Given the description of an element on the screen output the (x, y) to click on. 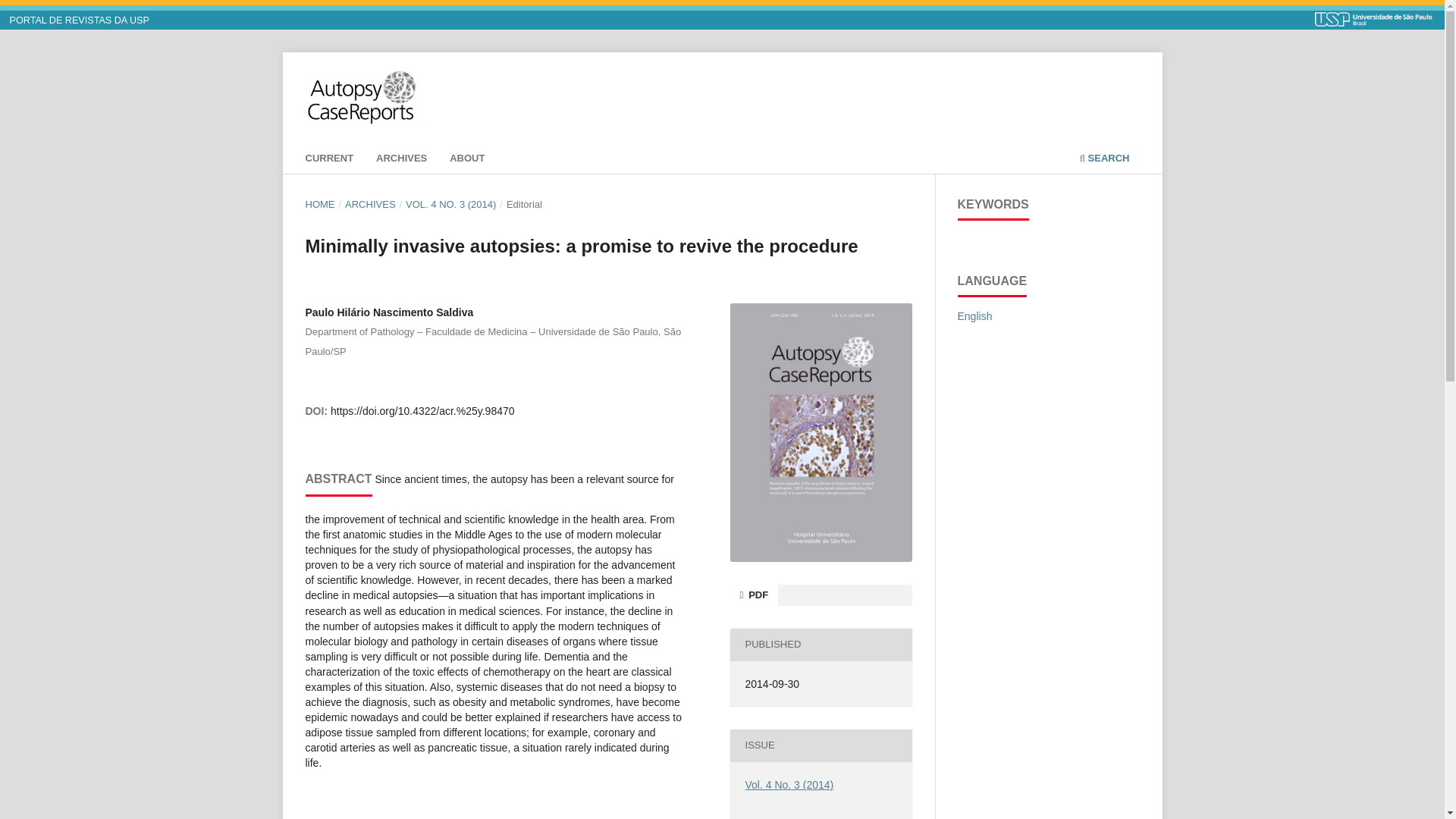
SEARCH (1104, 160)
ARCHIVES (370, 204)
PDF (753, 595)
Ir para a Home Page do Portal de Revistas da USP (79, 20)
CURRENT (328, 160)
HOME (319, 204)
ABOUT (467, 160)
ARCHIVES (401, 160)
PORTAL DE REVISTAS DA USP (79, 20)
